Given the description of an element on the screen output the (x, y) to click on. 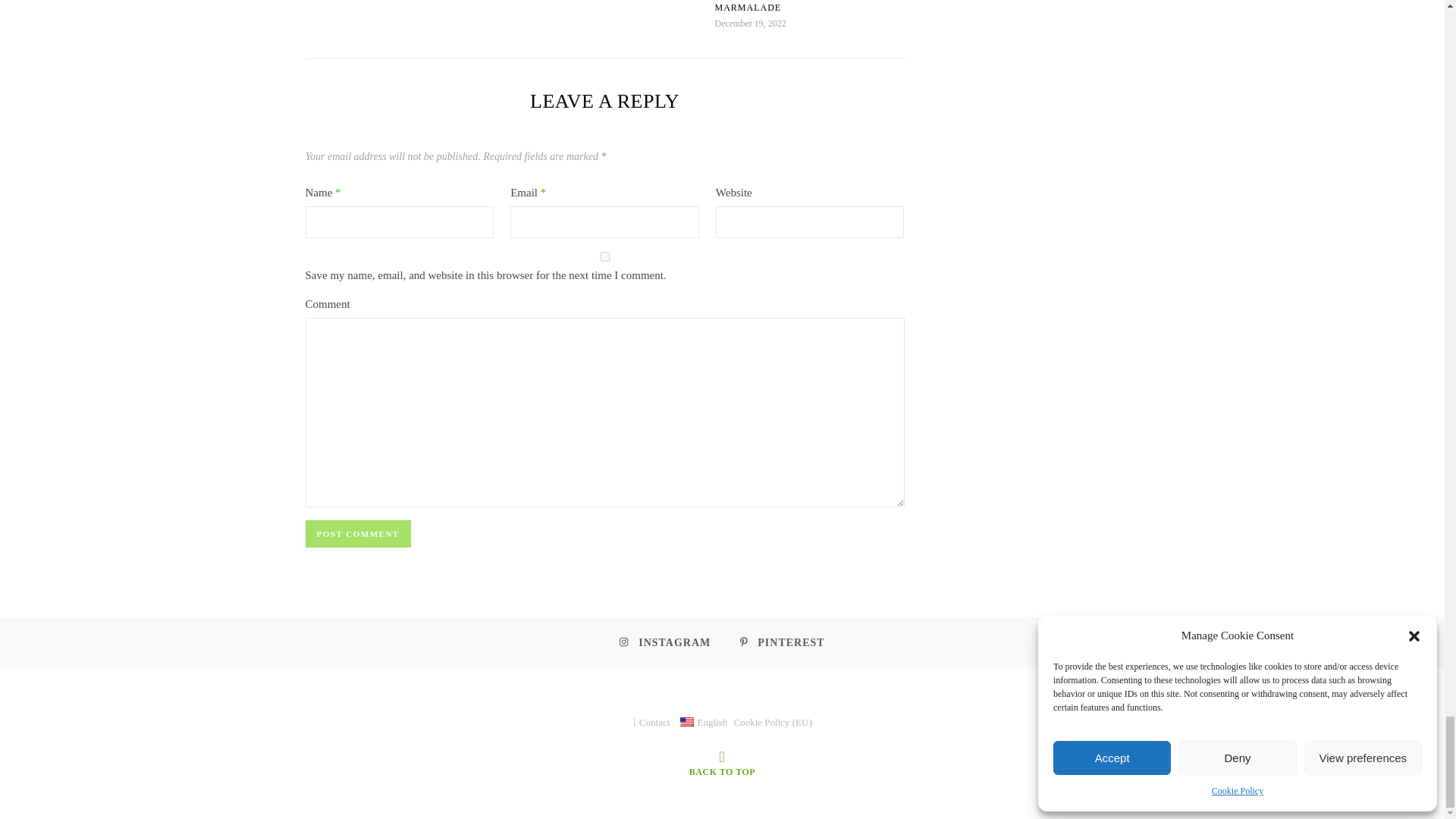
Post Comment (357, 533)
GLUTEN FREE GINGERBREAD HEARTS FILLED WITH PLUM MARMALADE (787, 6)
yes (604, 256)
BACK TO TOP (721, 763)
English (686, 721)
